Given the description of an element on the screen output the (x, y) to click on. 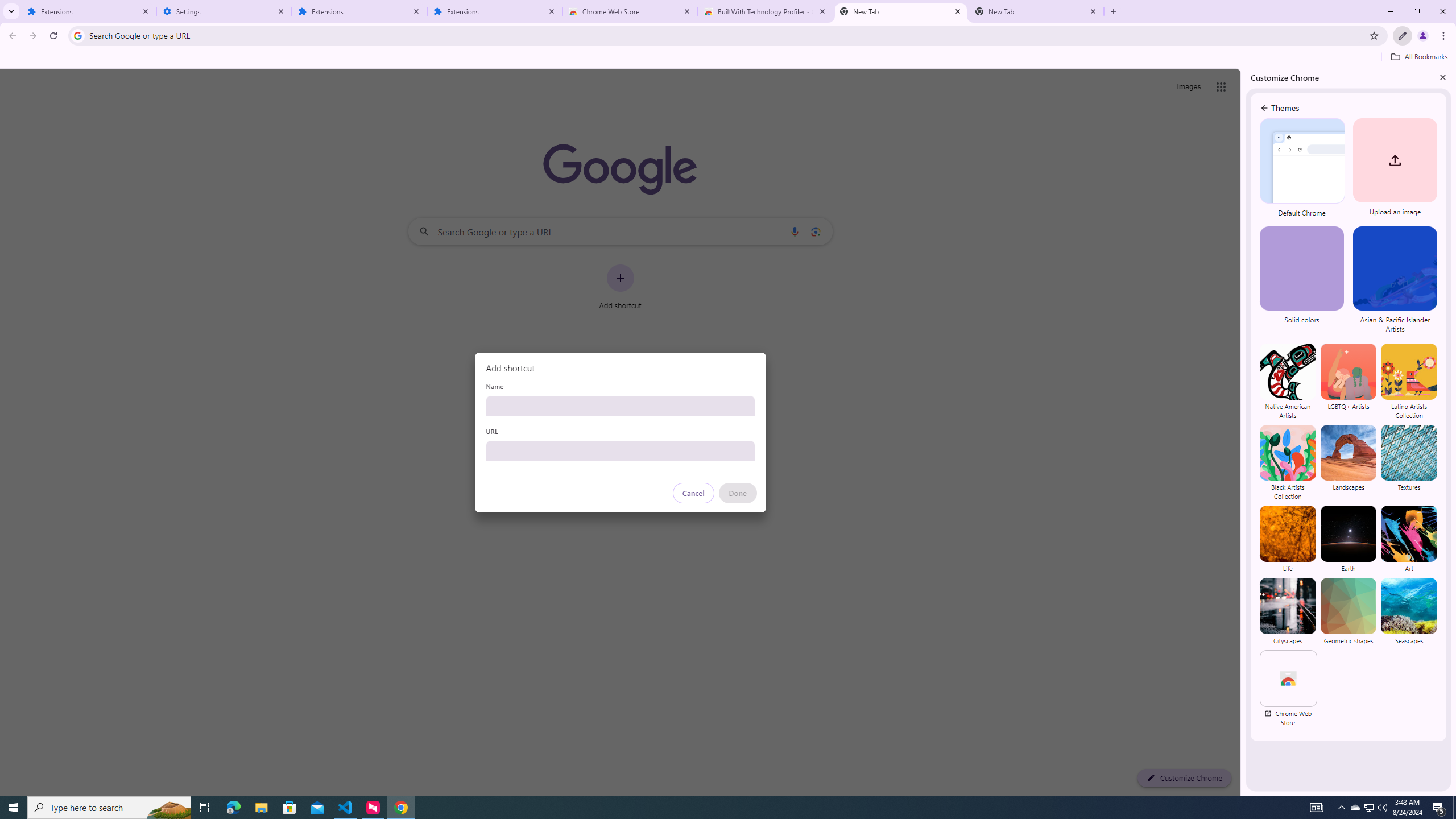
New Tab (1036, 11)
BuiltWith Technology Profiler - Chrome Web Store (765, 11)
Solid colors (1302, 281)
Native American Artists (1287, 381)
